Given the description of an element on the screen output the (x, y) to click on. 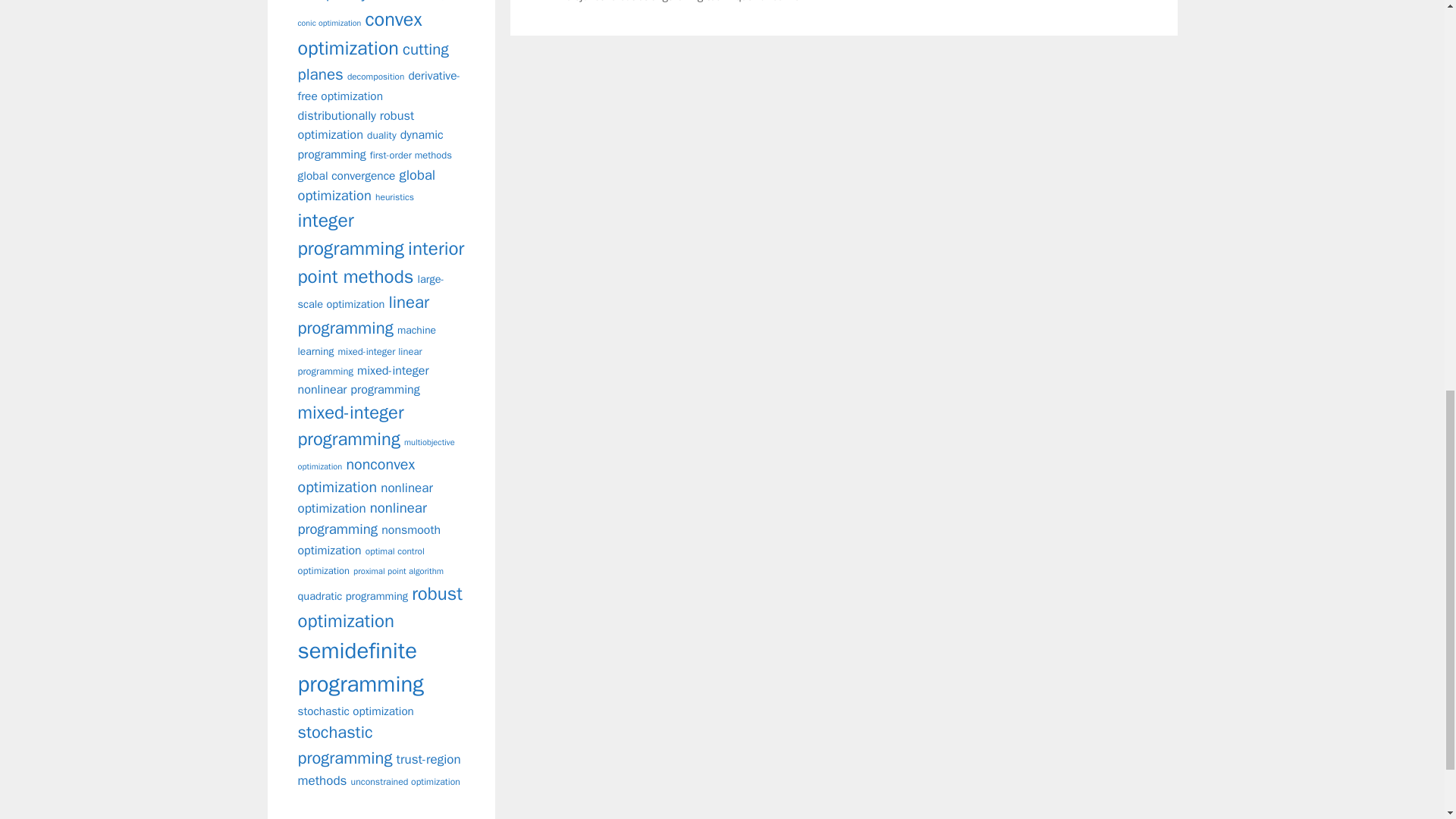
complexity (331, 1)
A disjunctive cut strengthening technique for convex MINLP (697, 1)
compressed sensing (407, 0)
conic optimization (329, 22)
